Given the description of an element on the screen output the (x, y) to click on. 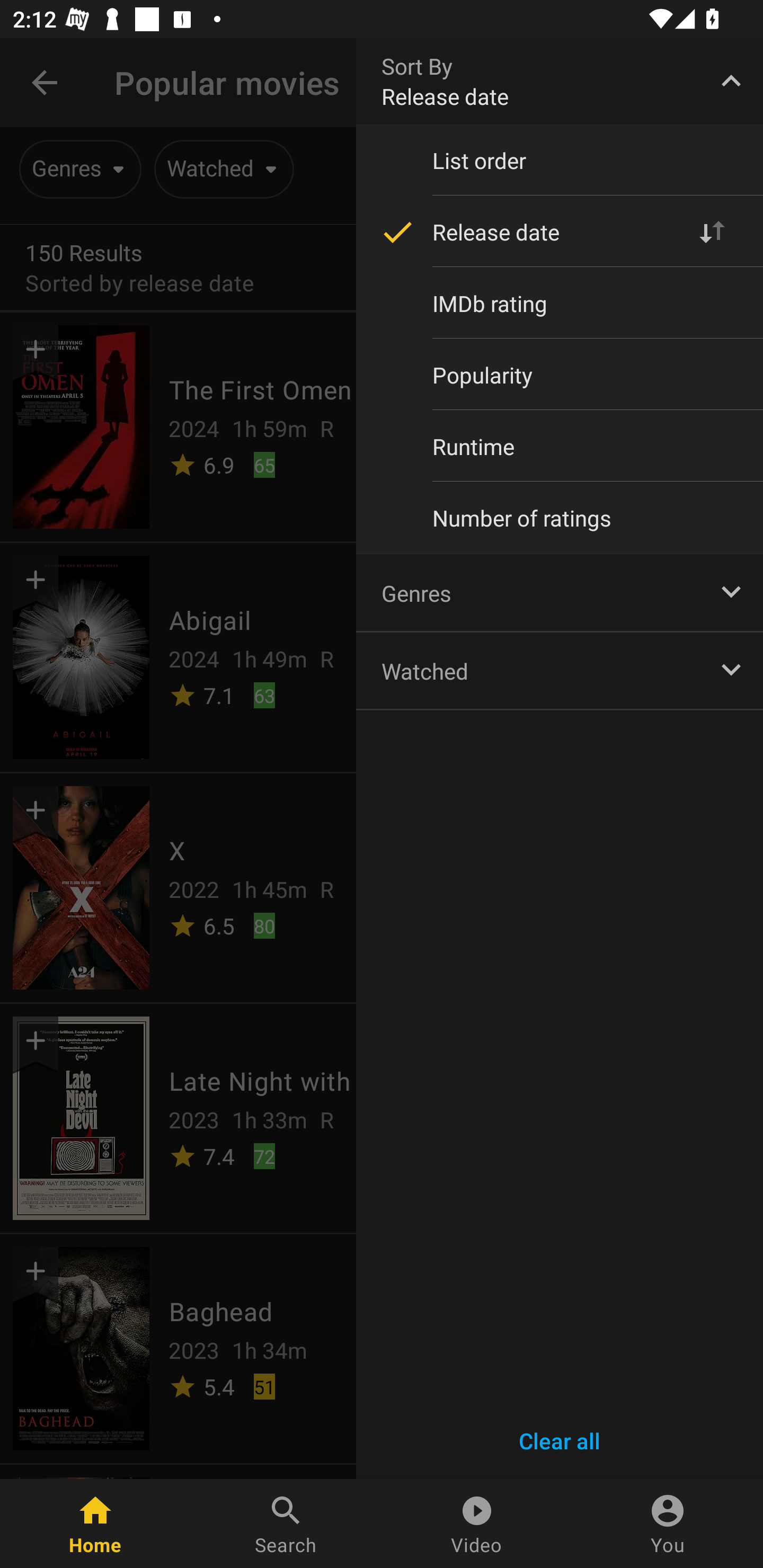
Sort By Release date (559, 80)
List order (559, 160)
Release date (559, 231)
IMDb rating (559, 303)
Popularity (559, 374)
Runtime (559, 445)
Number of ratings (559, 517)
Genres (559, 592)
Watched (559, 669)
Clear all (559, 1440)
Search (285, 1523)
Video (476, 1523)
You (667, 1523)
